Given the description of an element on the screen output the (x, y) to click on. 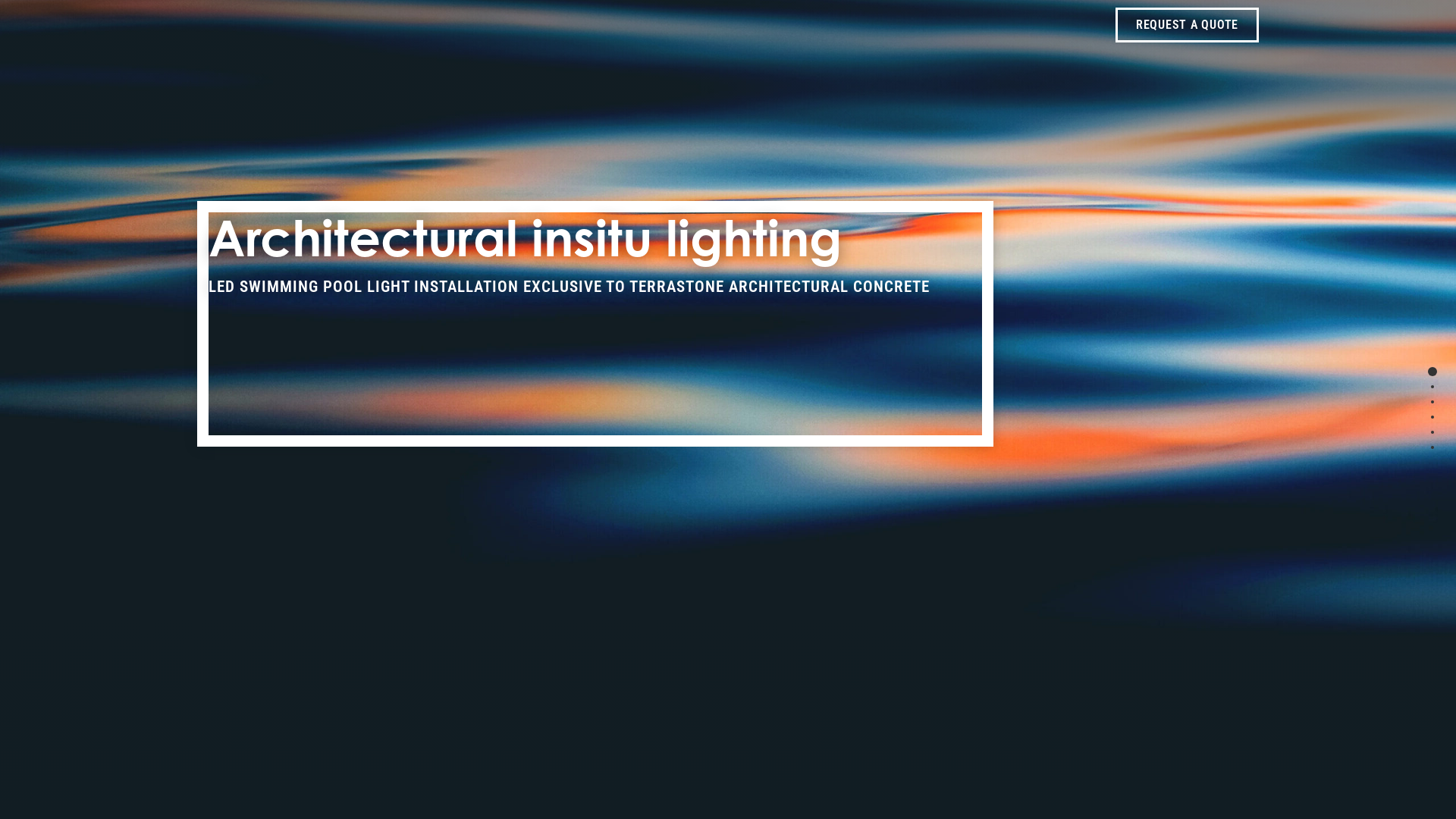
REQUEST A QUOTE Element type: text (1186, 24)
Section 2 Element type: text (1432, 387)
Section 1 Element type: text (1432, 371)
Section 3 Element type: text (1432, 402)
Section 6 Element type: text (1432, 447)
Section 5 Element type: text (1432, 432)
Section 4 Element type: text (1432, 417)
